Given the description of an element on the screen output the (x, y) to click on. 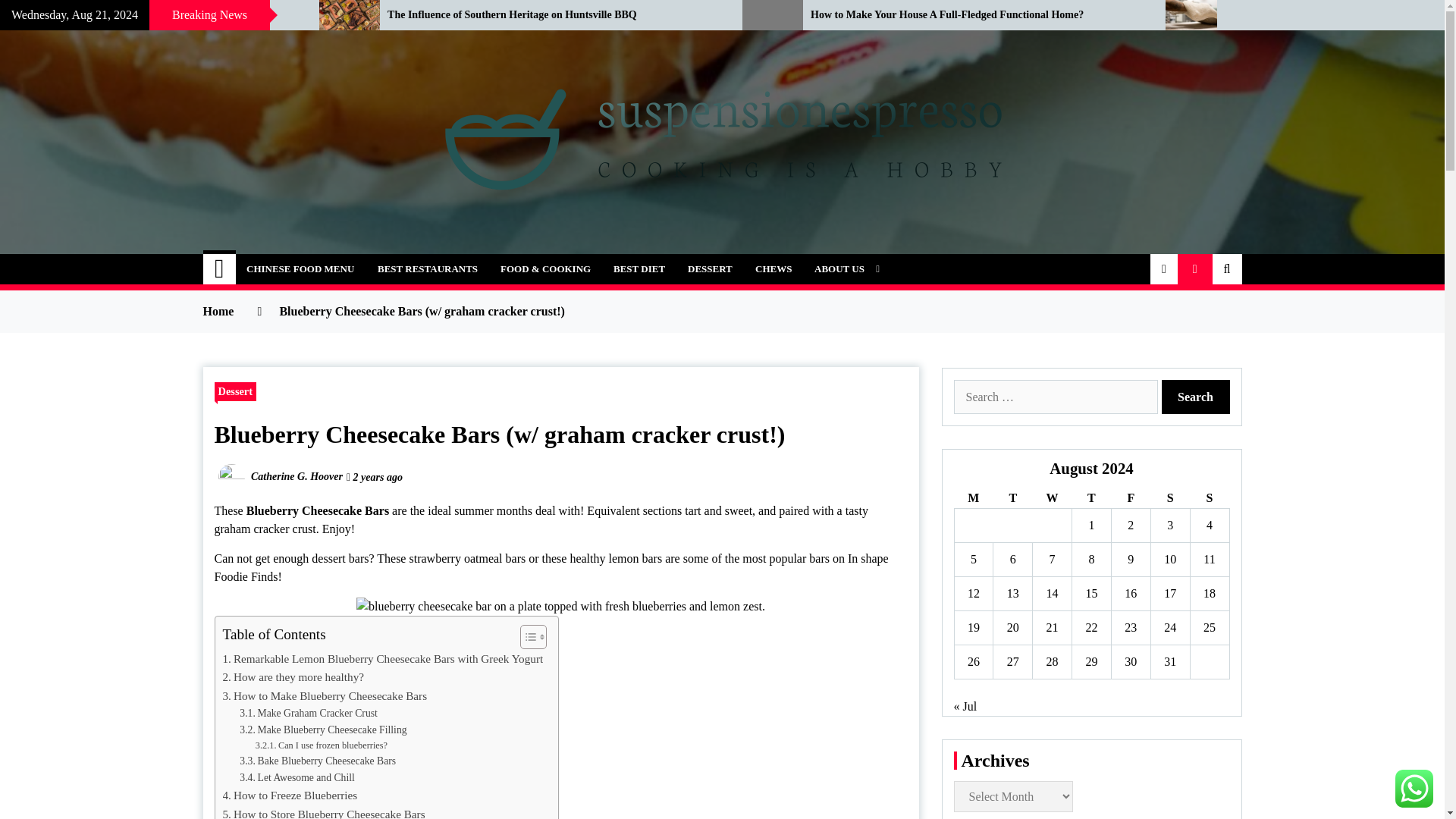
How are they more healthy? (293, 677)
How to Make Blueberry Cheesecake Bars (325, 696)
Make Graham Cracker Crust (308, 713)
How to Freeze Blueberries (290, 795)
Search (1195, 397)
Make Blueberry Cheesecake Filling (323, 729)
Remarkable Lemon Blueberry Cheesecake Bars with Greek Yogurt (382, 659)
Let Awesome and Chill (296, 777)
The Influence of Southern Heritage on Huntsville BBQ (553, 15)
